Given the description of an element on the screen output the (x, y) to click on. 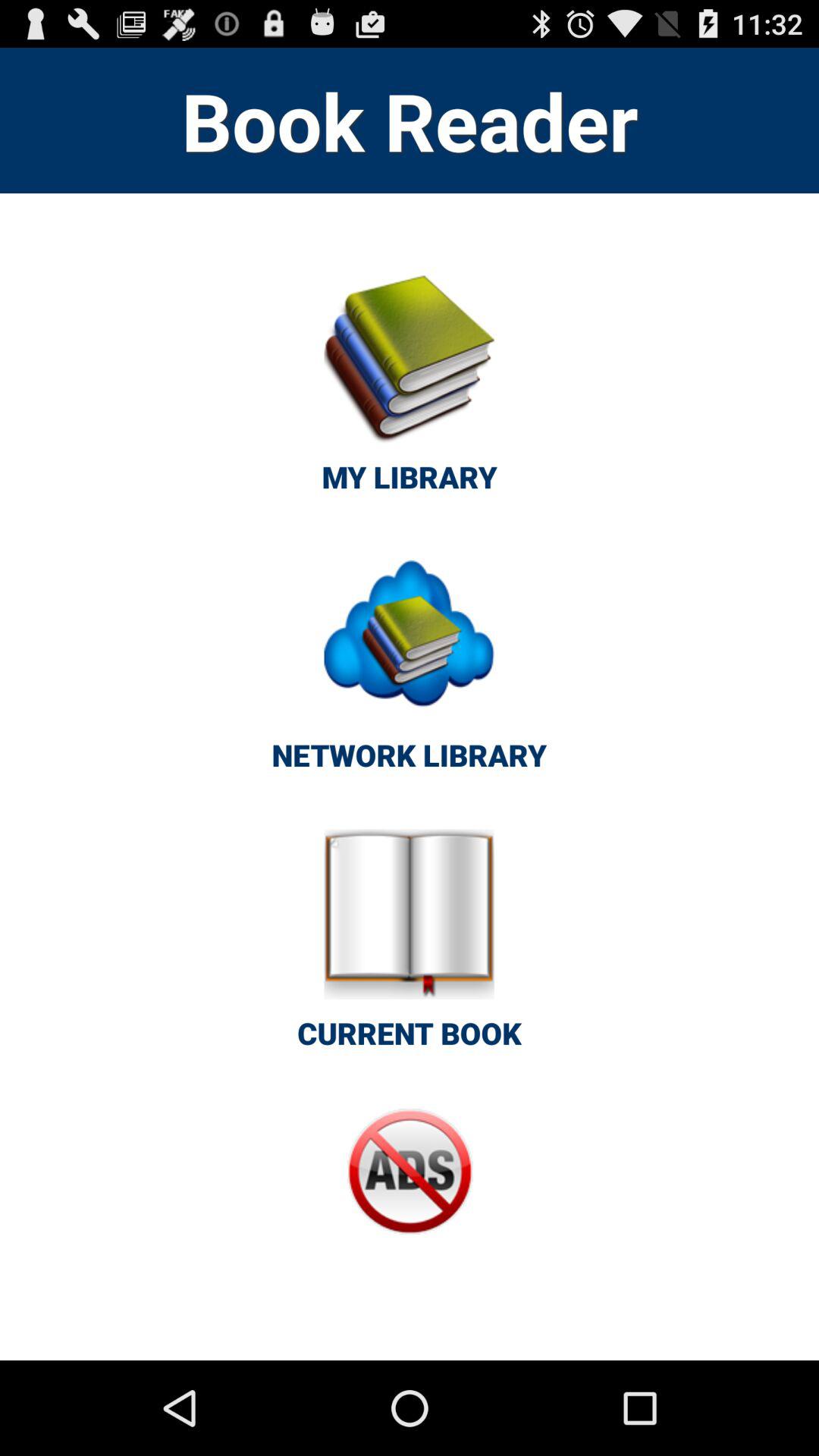
tap item below the current book (409, 1203)
